Given the description of an element on the screen output the (x, y) to click on. 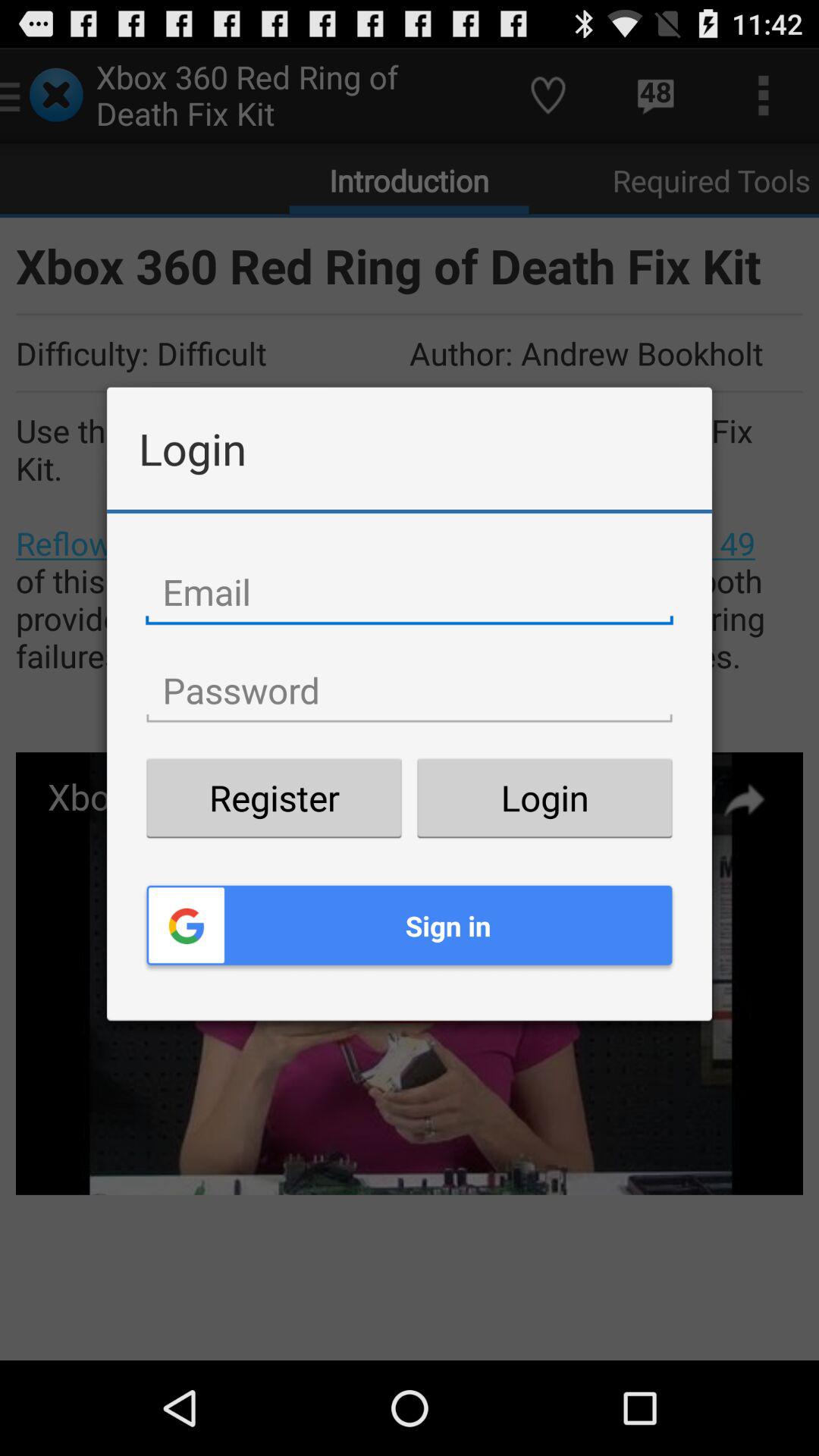
click the item next to the login button (273, 797)
